Given the description of an element on the screen output the (x, y) to click on. 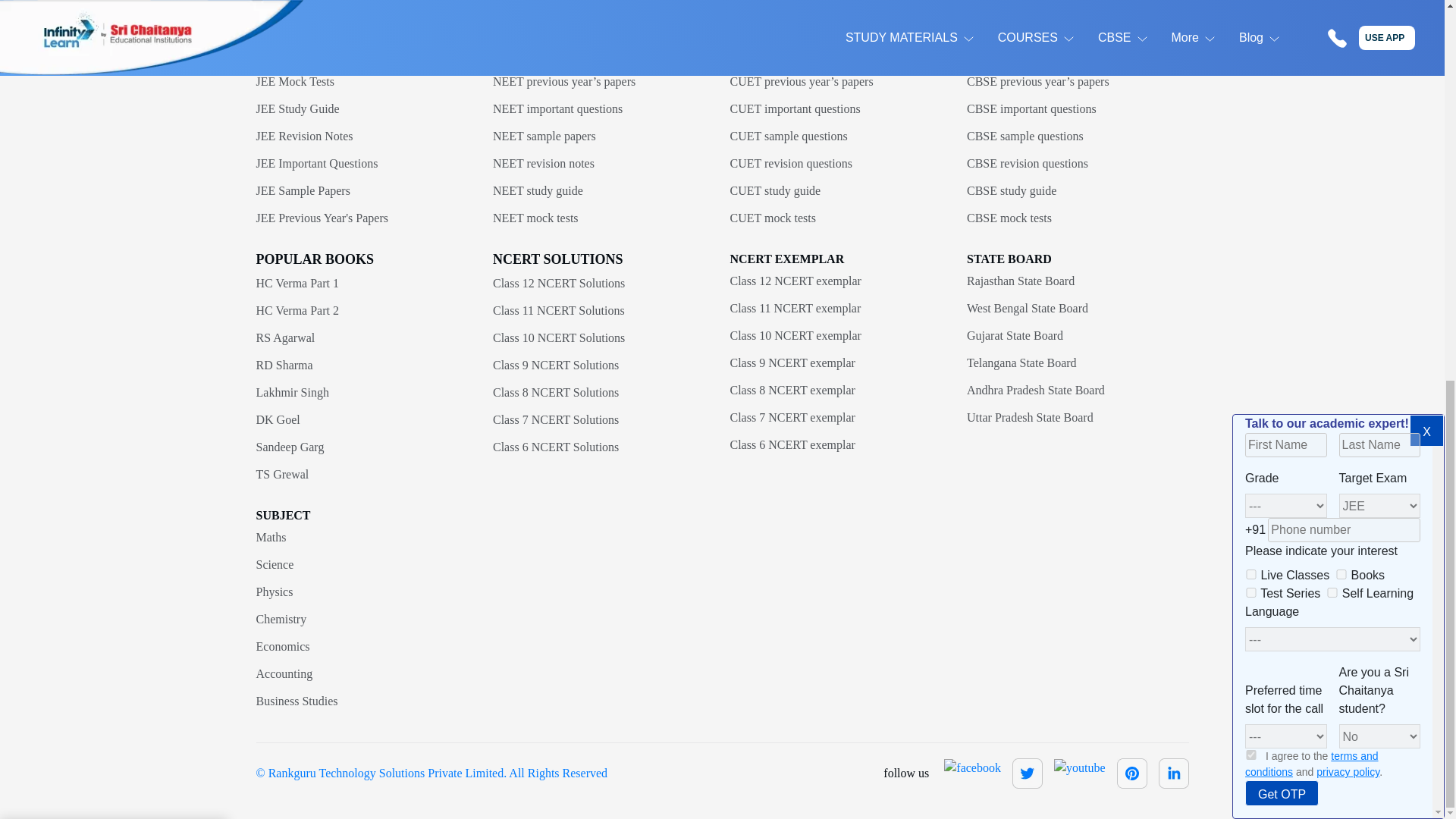
Get OTP (1281, 84)
1 (1250, 45)
